Given the description of an element on the screen output the (x, y) to click on. 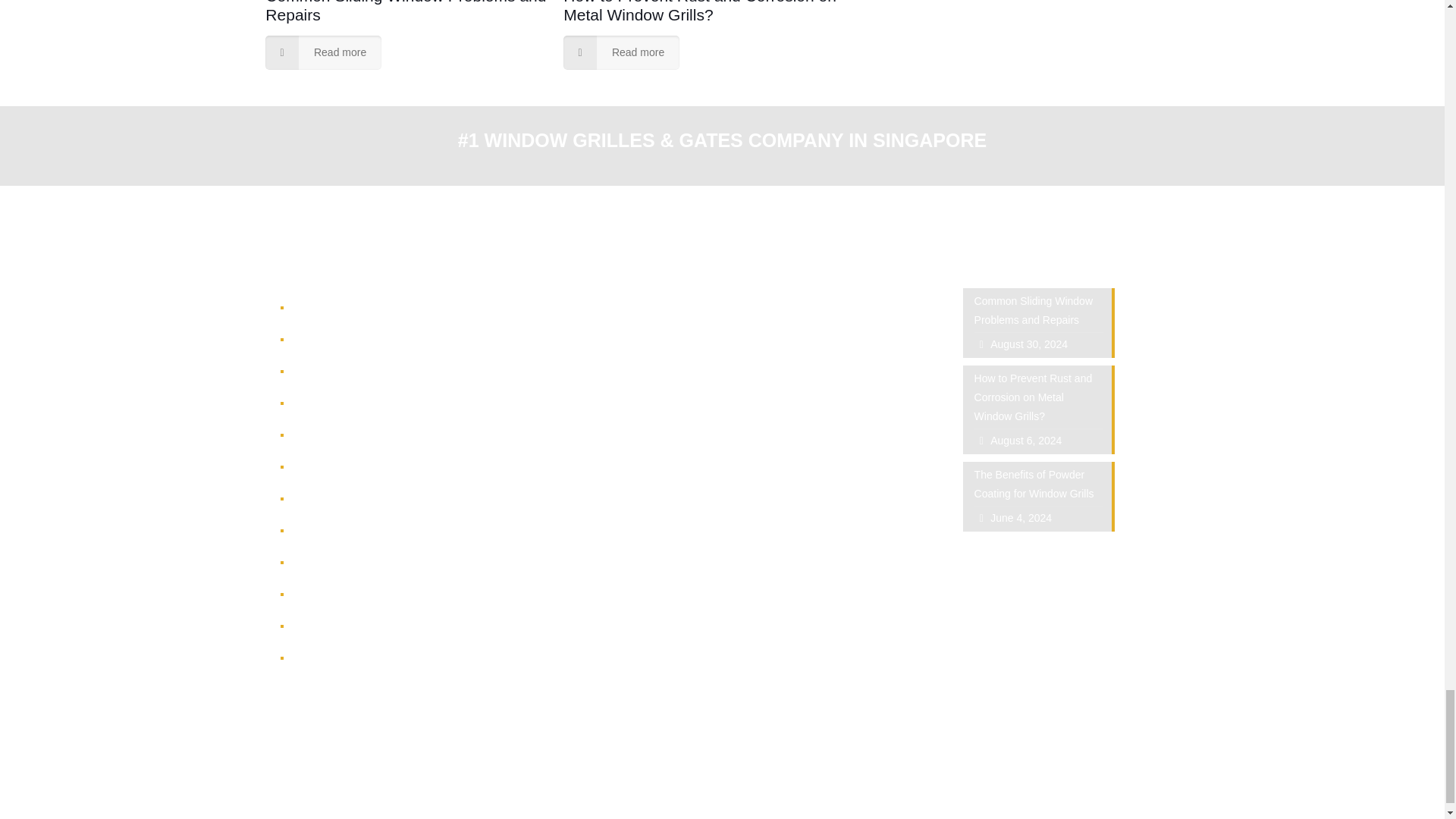
Read more (322, 52)
Common Sliding Window Problems and Repairs (405, 11)
Read more (621, 52)
How to Prevent Rust and Corrosion on Metal Window Grills? (699, 11)
